Given the description of an element on the screen output the (x, y) to click on. 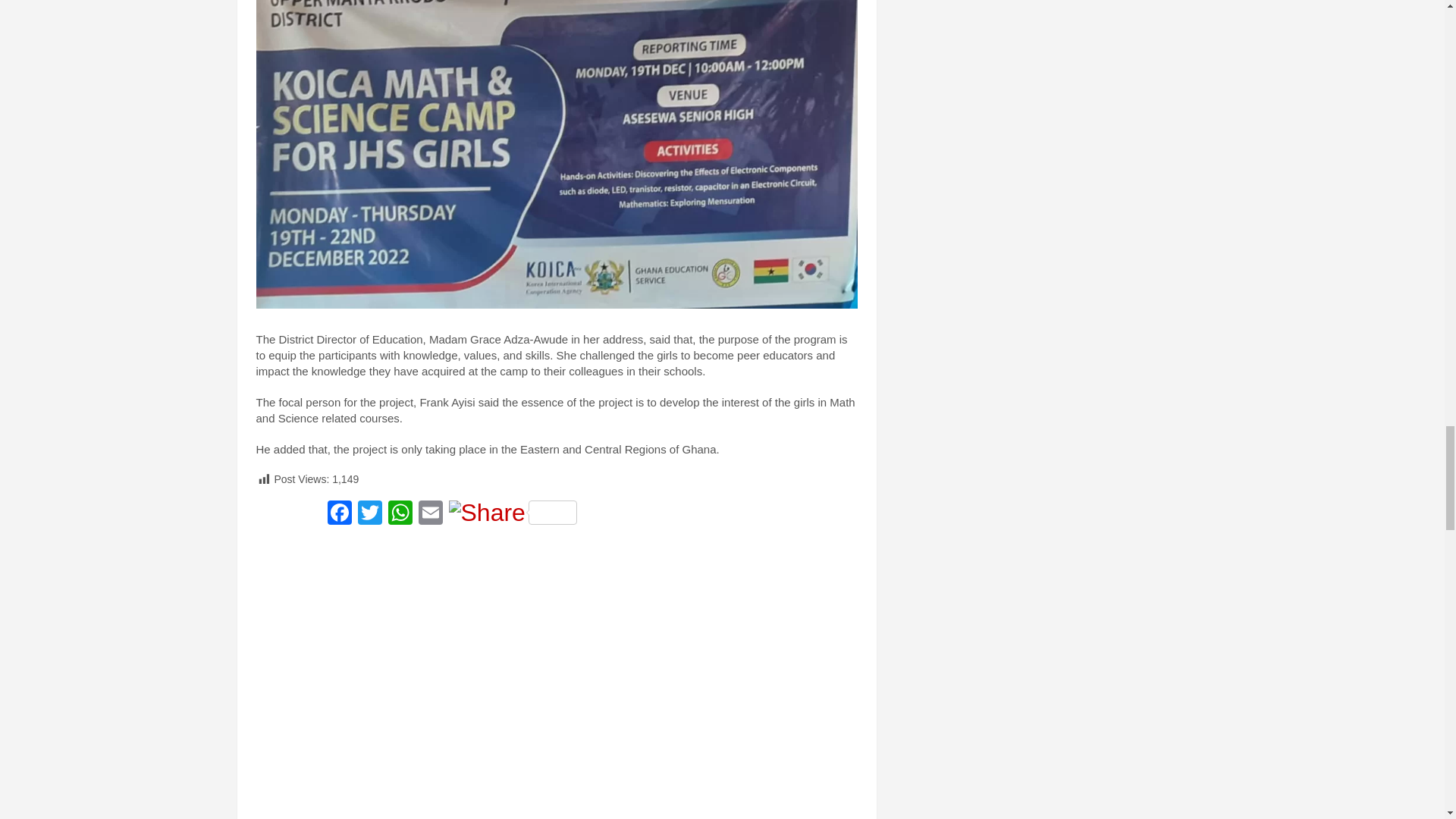
Email (429, 514)
WhatsApp (399, 514)
Facebook (339, 514)
Facebook (339, 514)
Email (429, 514)
Twitter (370, 514)
Twitter (370, 514)
WhatsApp (399, 514)
